Given the description of an element on the screen output the (x, y) to click on. 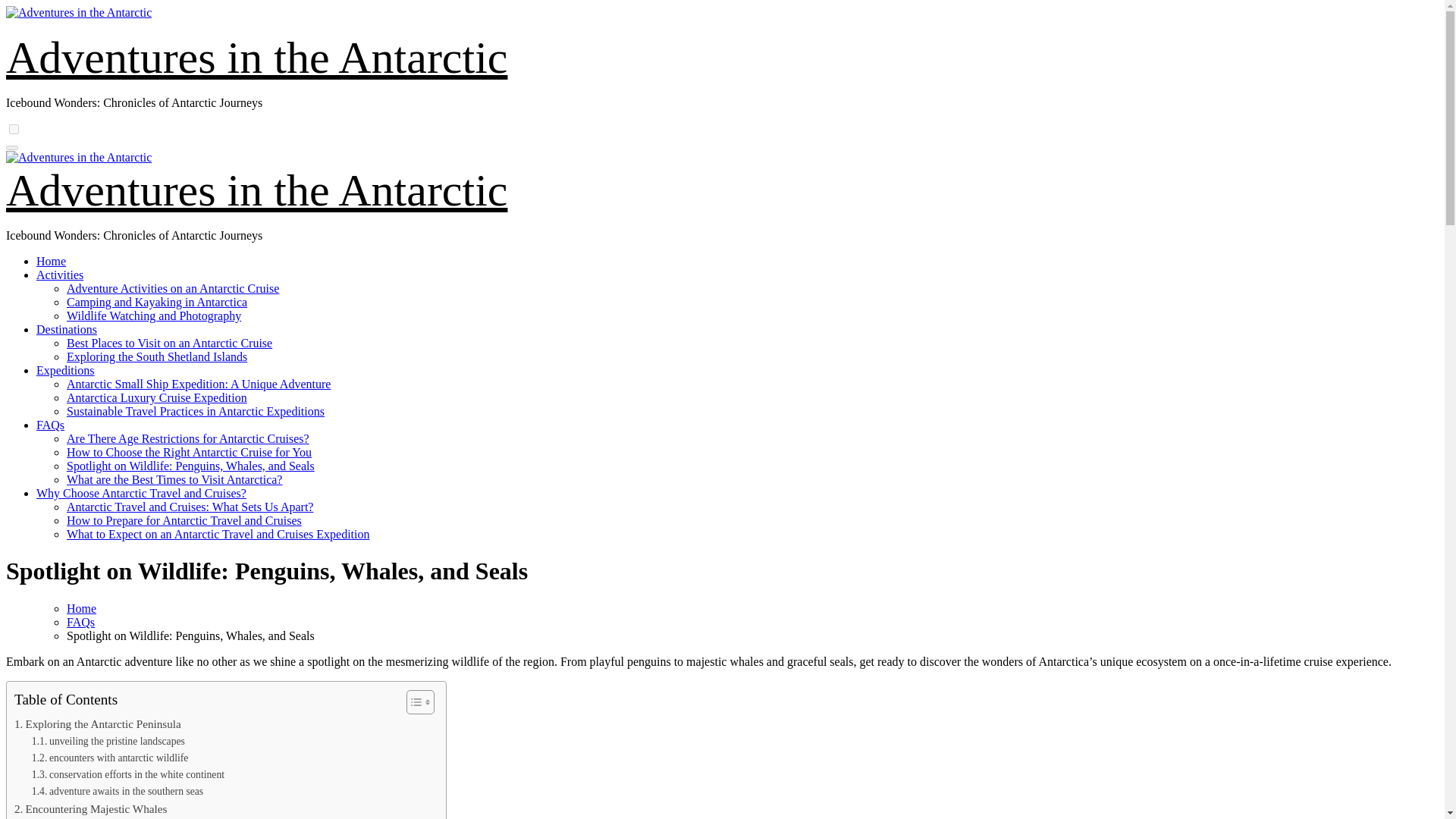
Antarctic Small Ship Expedition: A Unique Adventure (198, 383)
How to Choose the Right Antarctic Cruise for You (188, 451)
Adventures in the Antarctic (255, 57)
FAQs (50, 424)
Encountering Majestic Whales (90, 809)
Exploring the Antarctic Peninsula (97, 723)
Spotlight on Wildlife: Penguins, Whales, and Seals (190, 465)
Camping and Kayaking in Antarctica (156, 301)
Activities (59, 274)
Encountering Majestic Whales (90, 809)
